Given the description of an element on the screen output the (x, y) to click on. 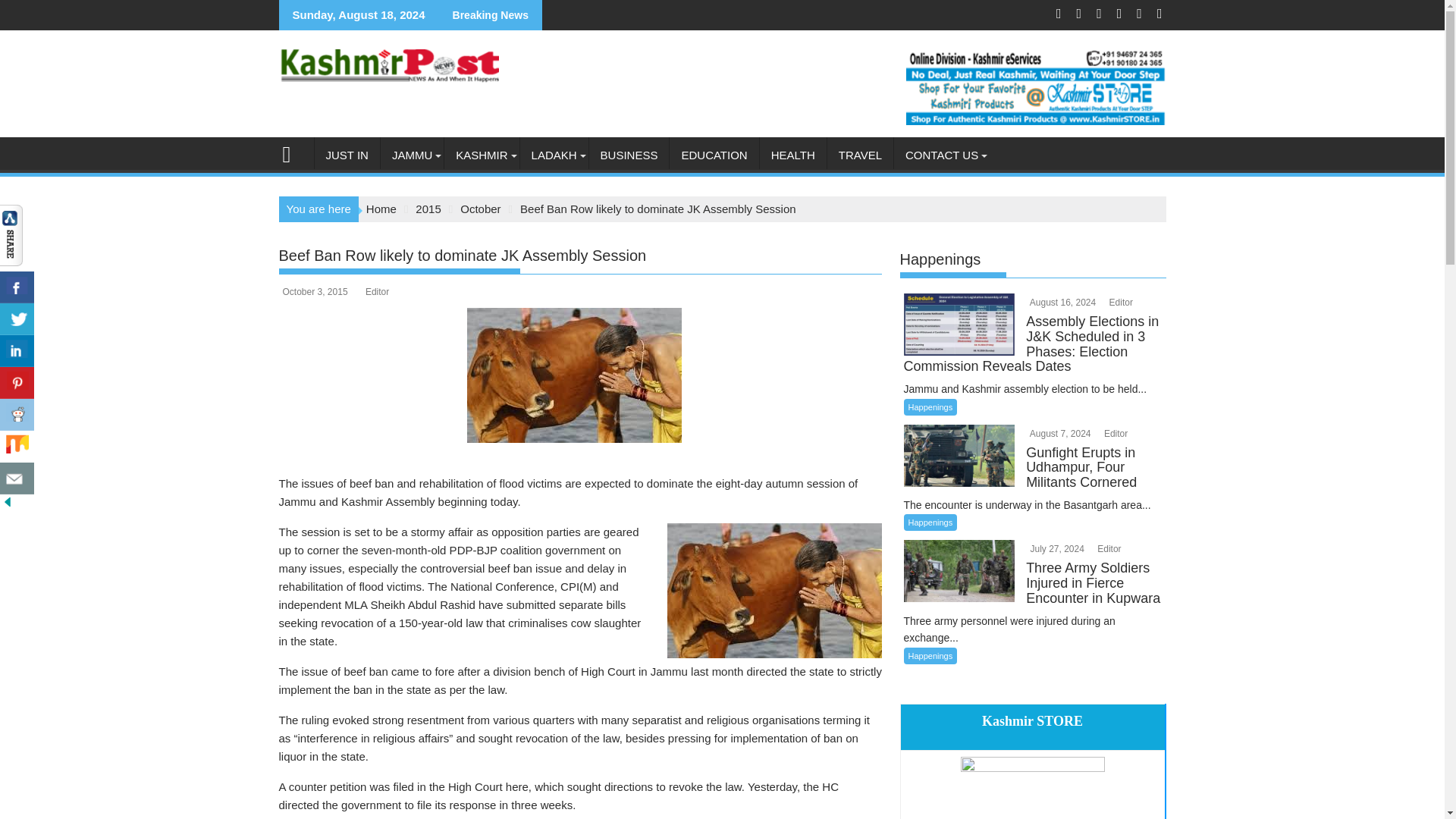
JAMMU (412, 155)
Editor (1118, 302)
LADAKH (553, 155)
Editor (1114, 433)
Editor (1107, 548)
KASHMIR (481, 155)
JUST IN (346, 155)
Kashmir POST (293, 152)
